Given the description of an element on the screen output the (x, y) to click on. 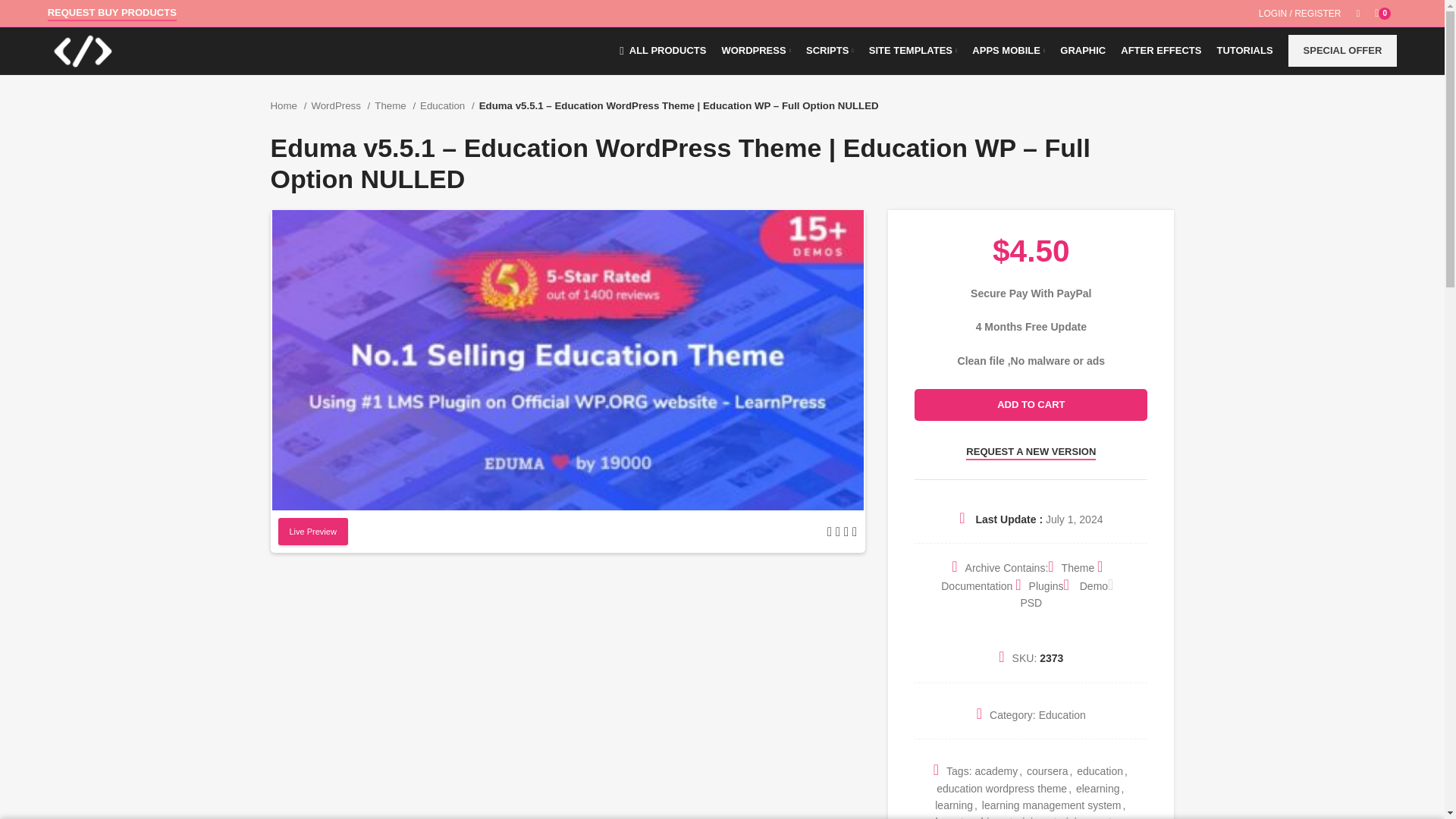
ALL PRODUCTS (662, 51)
WORDPRESS (755, 51)
My account (1299, 14)
Shopping cart (1386, 14)
AFTER EFFECTS (1160, 51)
SPECIAL OFFER (1342, 50)
GRAPHIC (1082, 51)
SITE TEMPLATES (913, 51)
TUTORIALS (1243, 51)
REQUEST BUY PRODUCTS (112, 13)
SCRIPTS (829, 51)
0 (1386, 14)
APPS MOBILE (1007, 51)
